Given the description of an element on the screen output the (x, y) to click on. 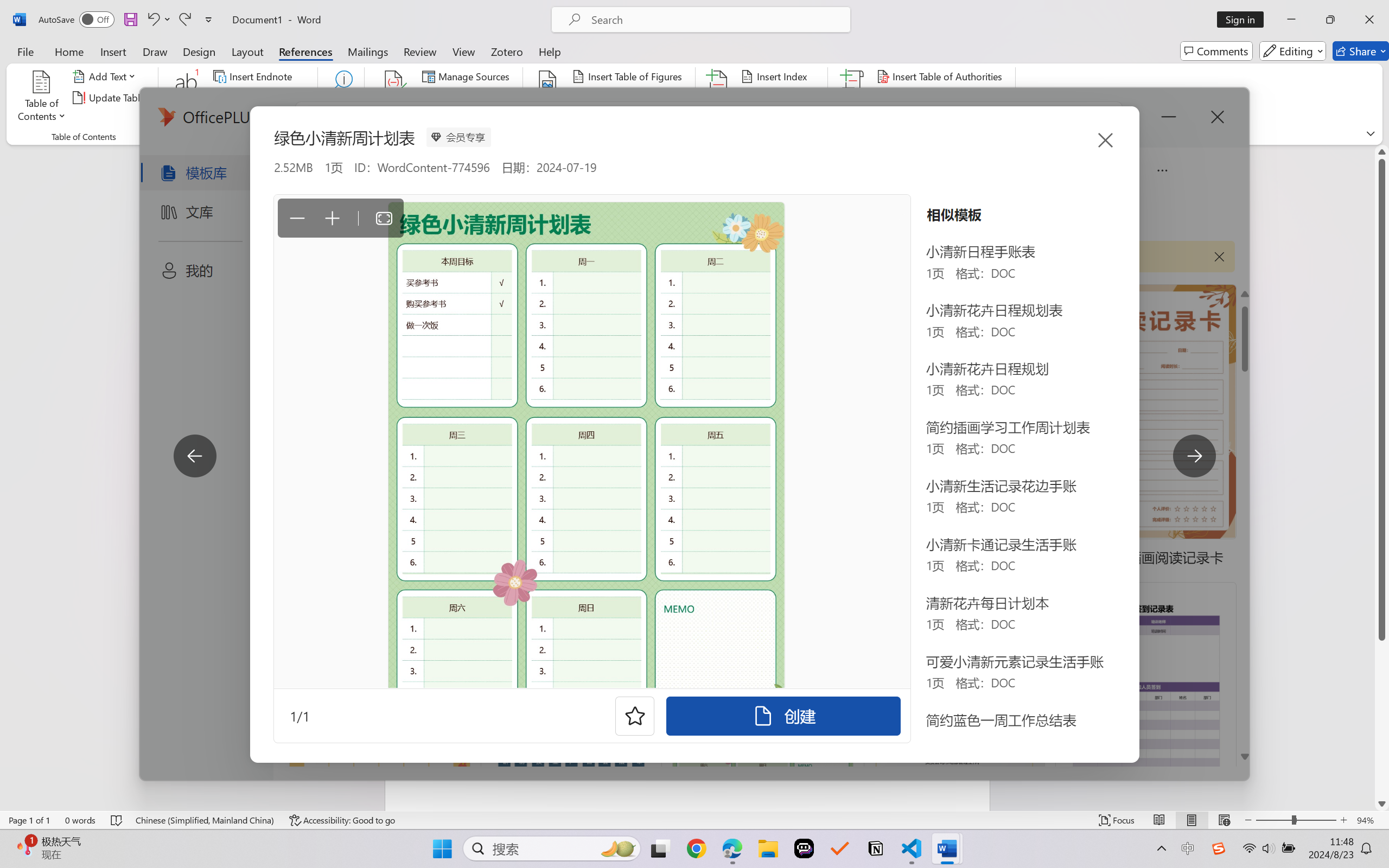
Undo Apply Quick Style Set (158, 19)
Editing (1292, 50)
Page down (1382, 718)
